Given the description of an element on the screen output the (x, y) to click on. 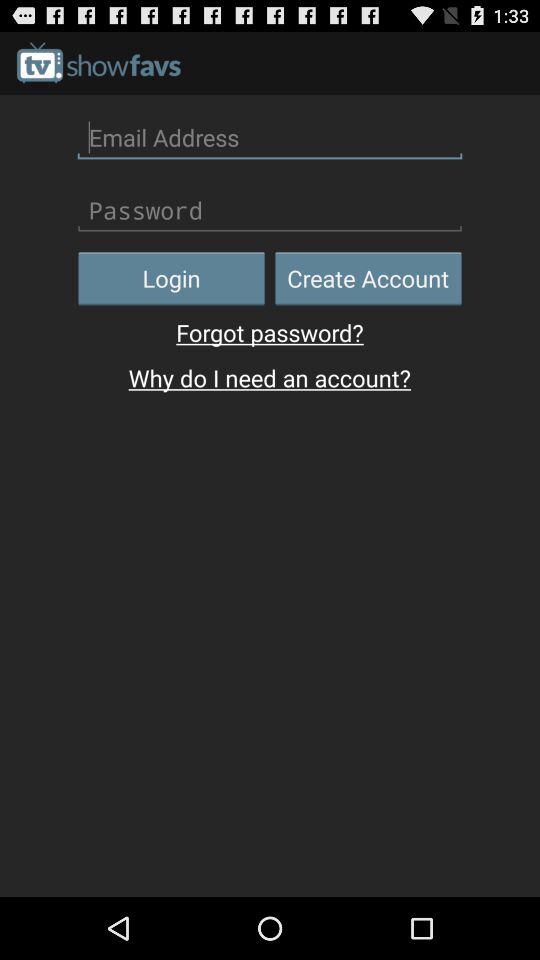
enter password (269, 210)
